Given the description of an element on the screen output the (x, y) to click on. 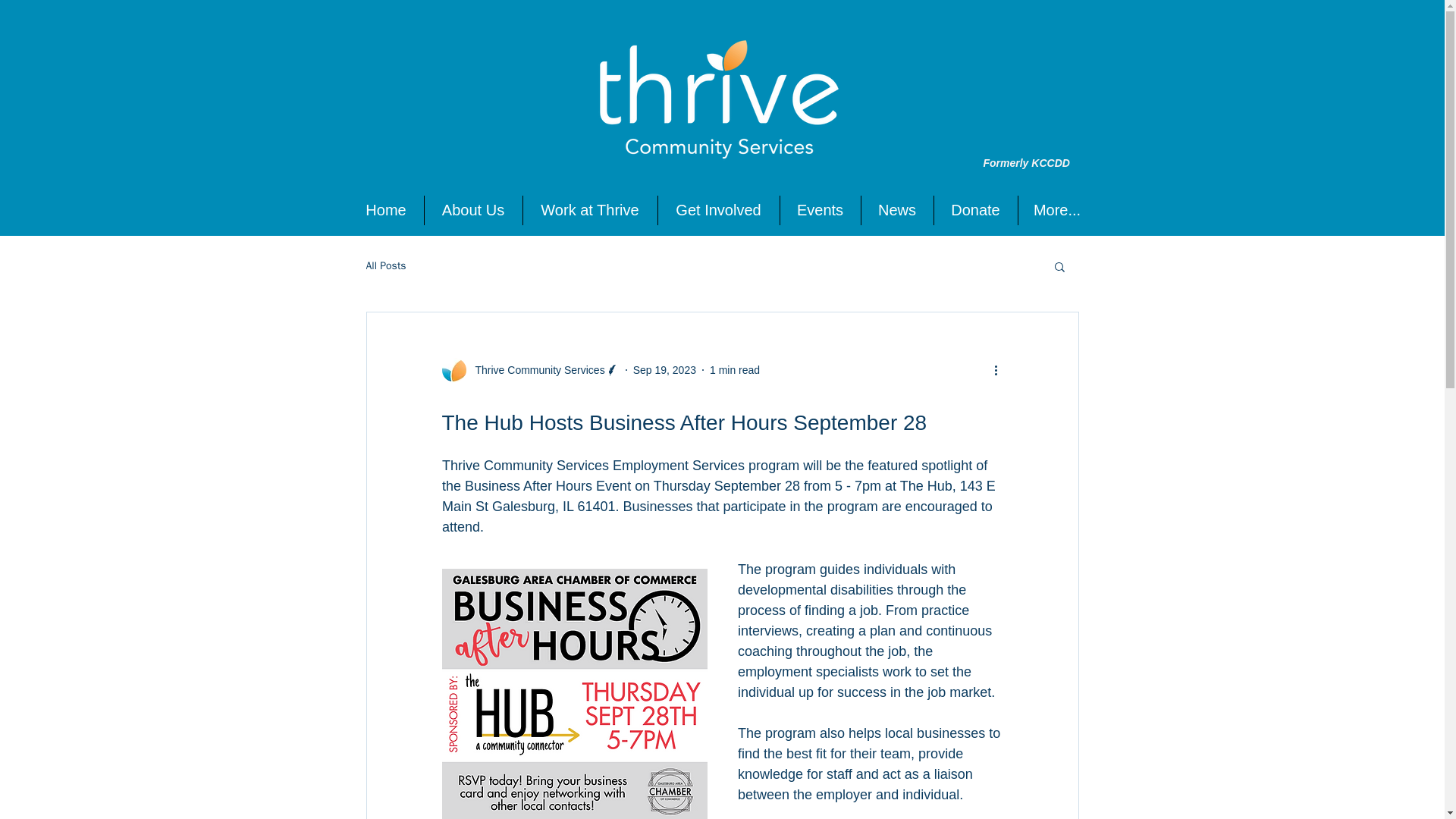
News (897, 210)
Donate (975, 210)
Work at Thrive (590, 210)
Thrive Community Services (534, 370)
Home (386, 210)
Get Involved (718, 210)
Events (819, 210)
All Posts (385, 265)
Thrive Community Services (529, 369)
Thrive Community Services logo (718, 102)
Sep 19, 2023 (664, 369)
1 min read (735, 369)
About Us (473, 210)
